Given the description of an element on the screen output the (x, y) to click on. 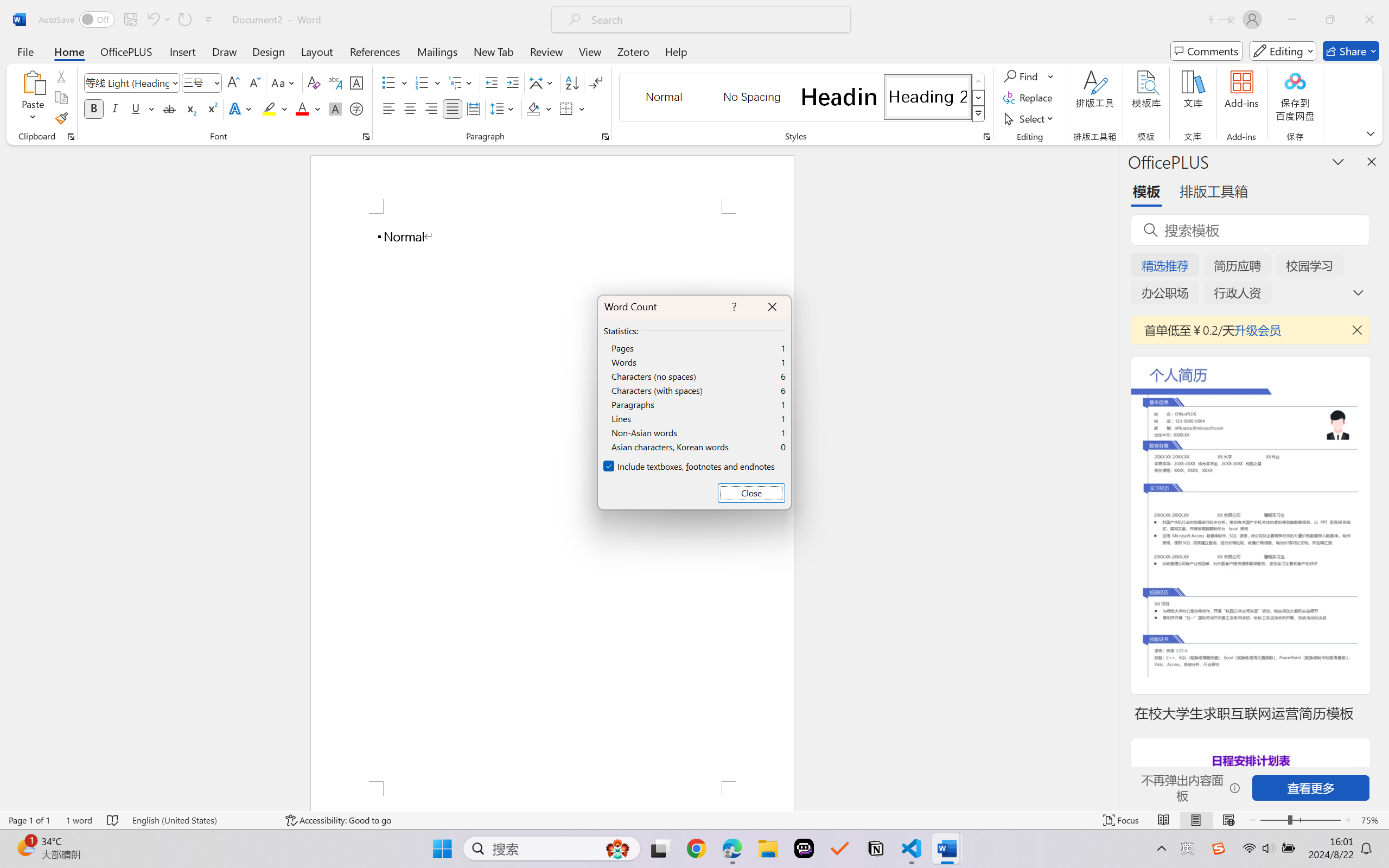
Borders (571, 108)
New Tab (493, 51)
Character Shading (334, 108)
Shading RGB(0, 0, 0) (533, 108)
Zoom (1300, 819)
Styles... (986, 136)
Spelling and Grammar Check No Errors (113, 819)
Undo Typing (158, 19)
Decrease Indent (491, 82)
OfficePLUS (126, 51)
